Given the description of an element on the screen output the (x, y) to click on. 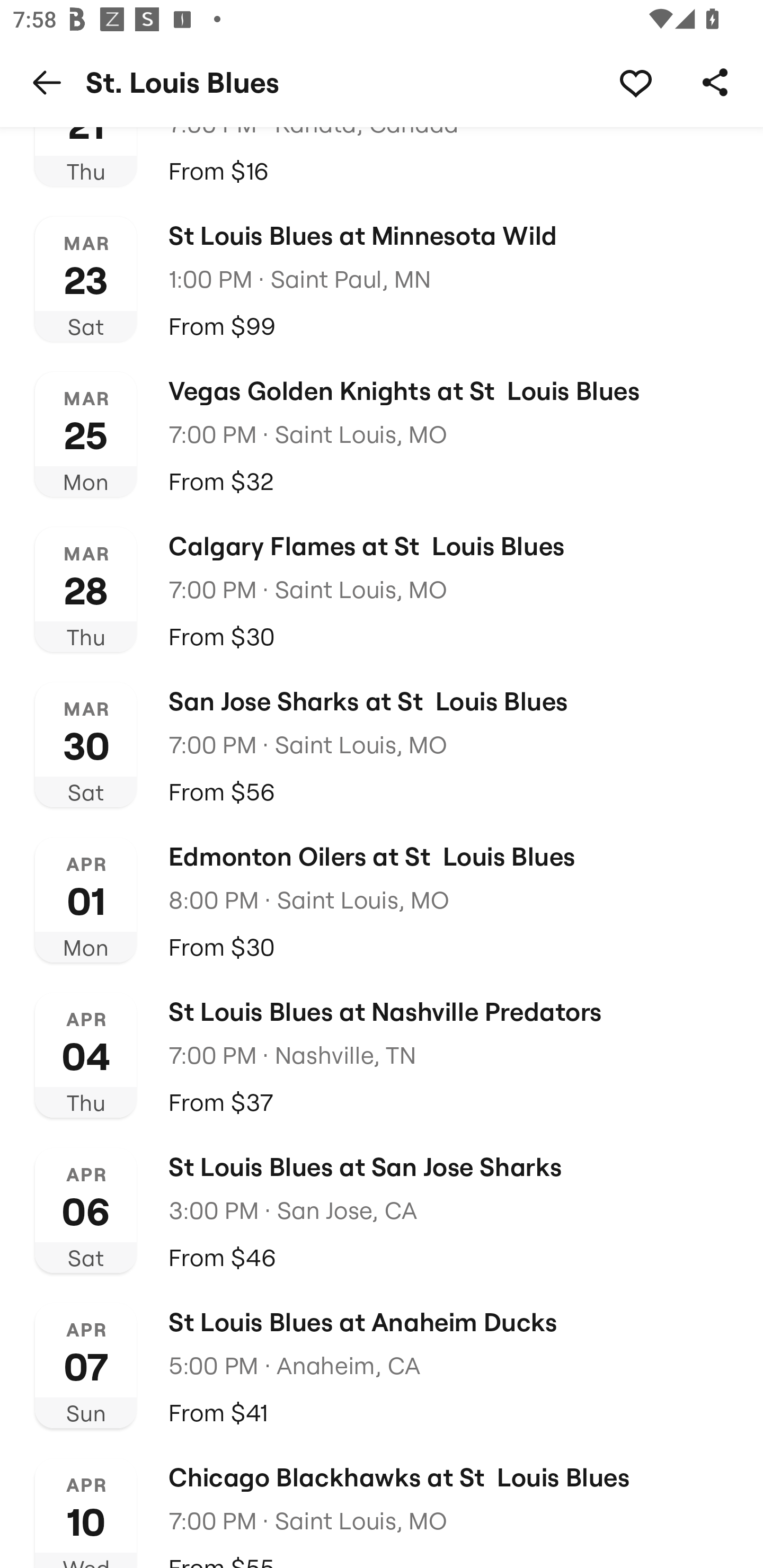
Back (47, 81)
Track this performer (635, 81)
Share this performer (715, 81)
